Given the description of an element on the screen output the (x, y) to click on. 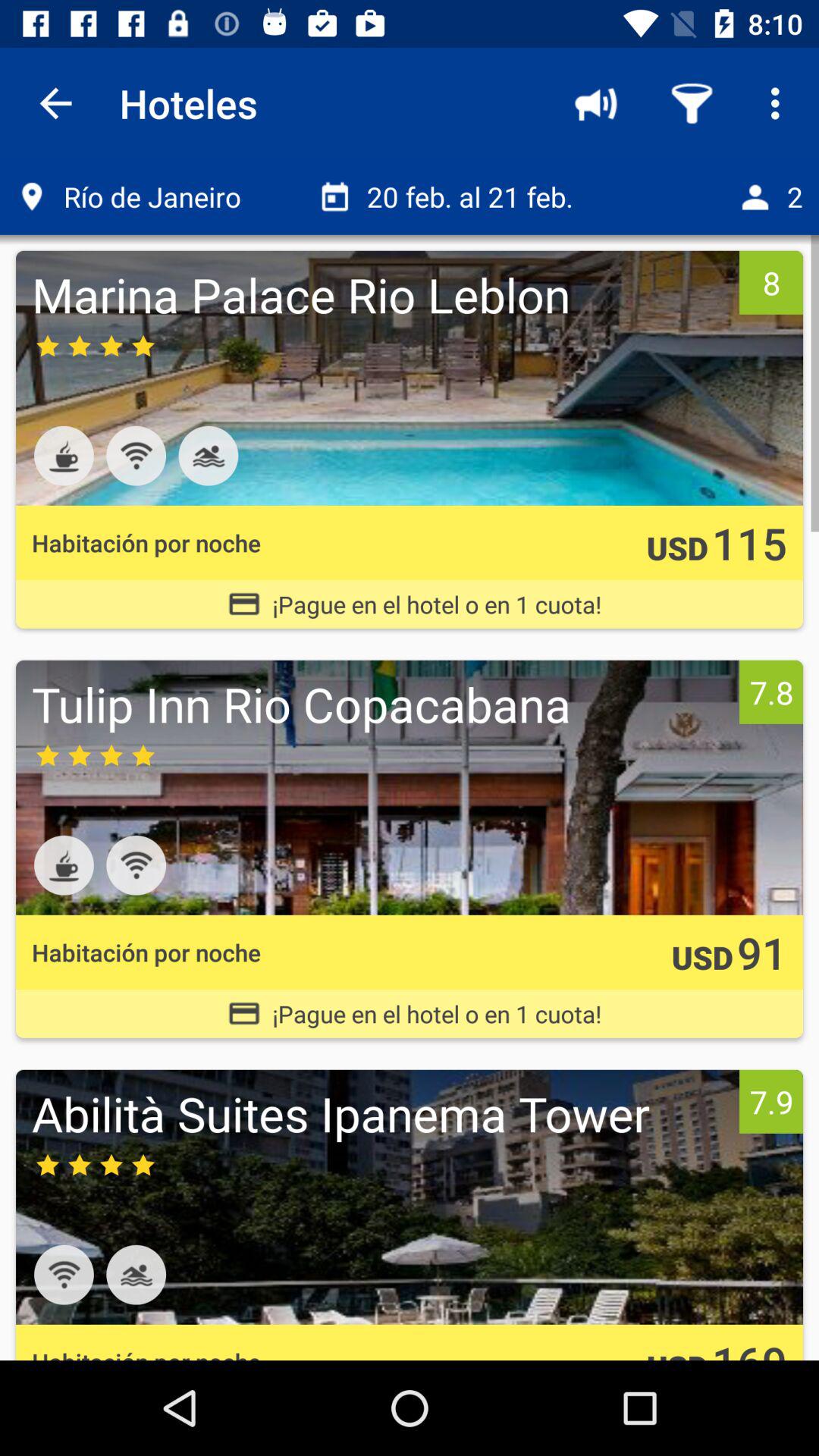
turn off icon next to the 8 item (381, 294)
